Given the description of an element on the screen output the (x, y) to click on. 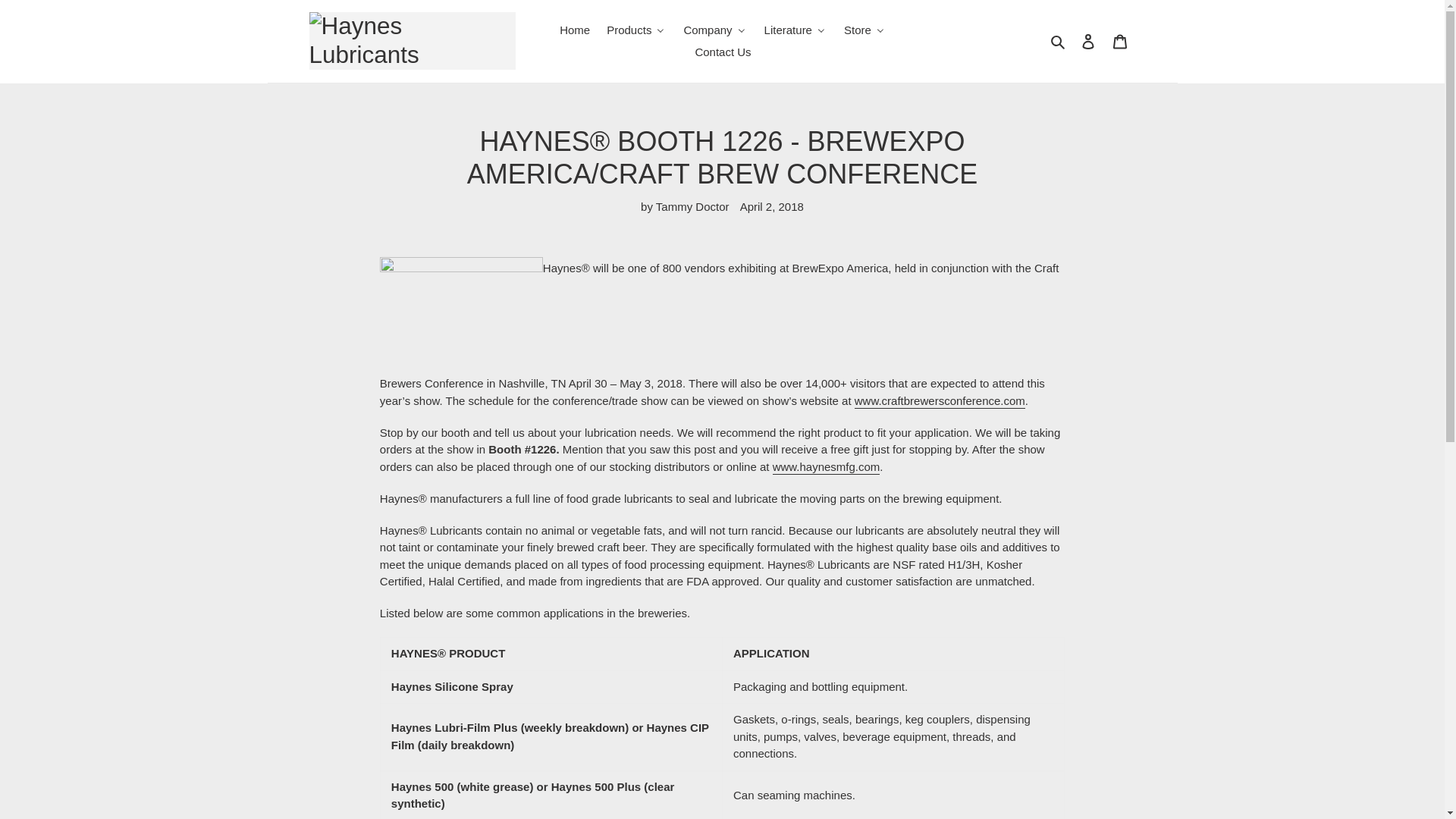
Products (635, 29)
Company (714, 29)
Literature (794, 29)
Home (573, 29)
